Given the description of an element on the screen output the (x, y) to click on. 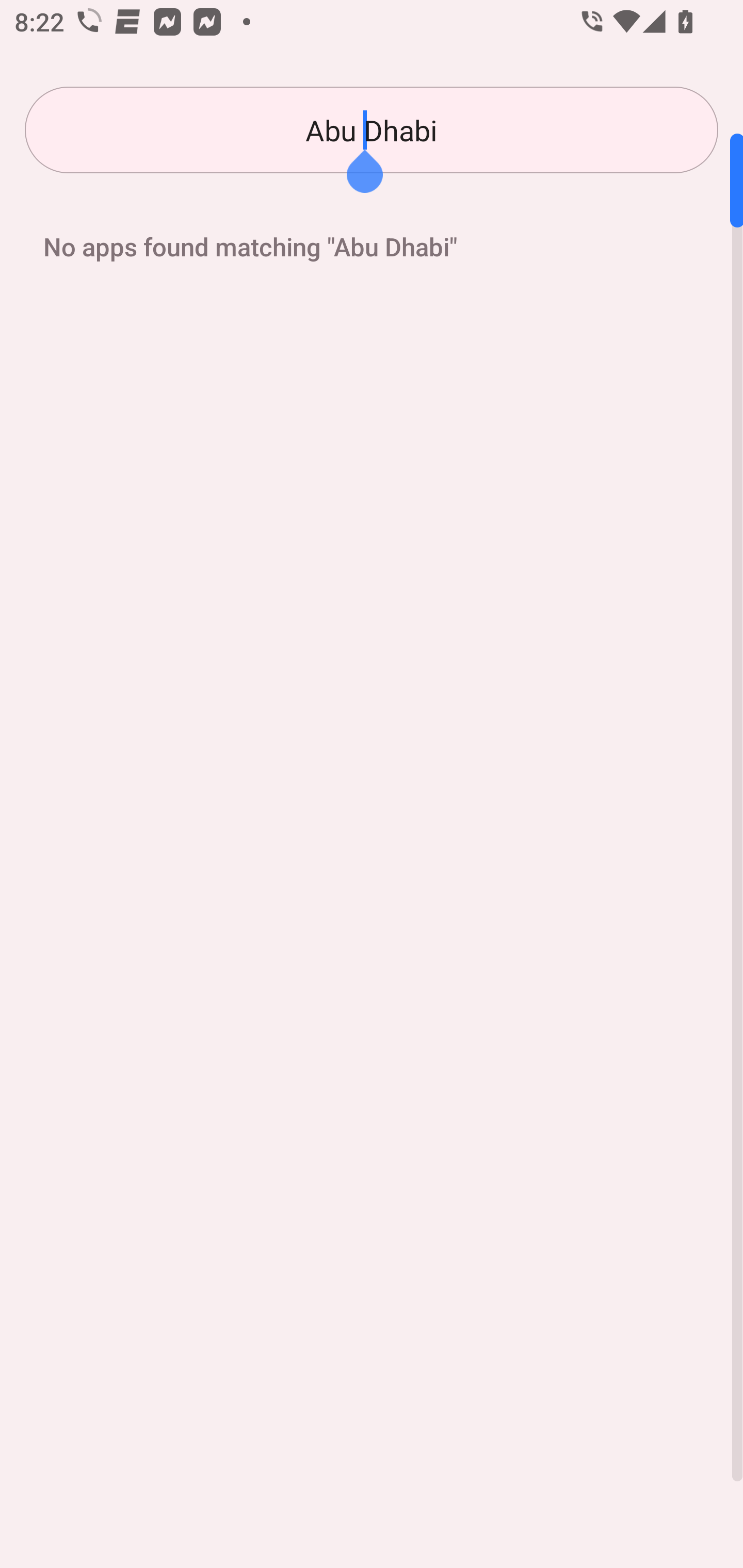
Abu Dhabi (371, 130)
